Given the description of an element on the screen output the (x, y) to click on. 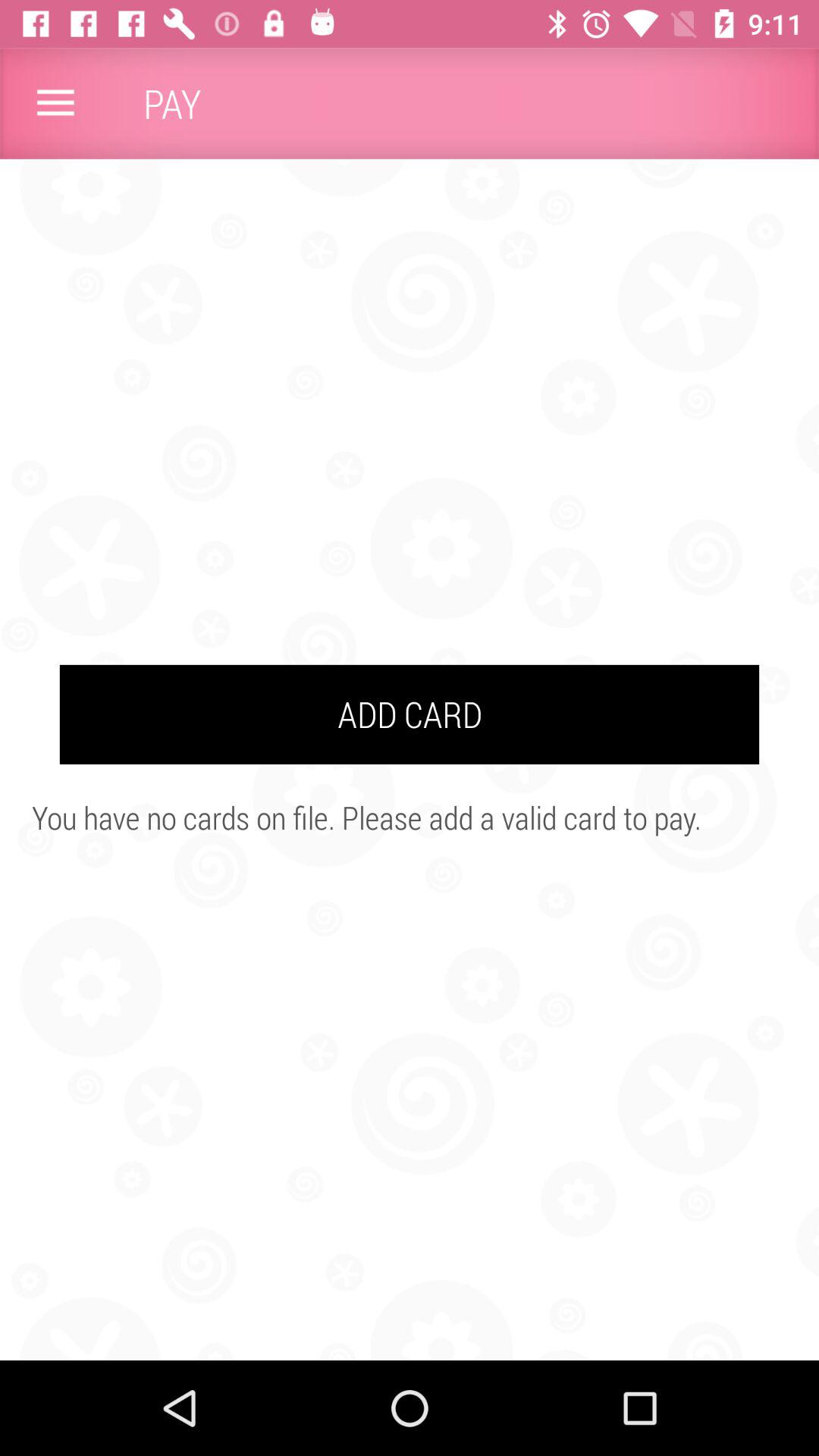
open the icon to the left of the pay app (55, 103)
